Given the description of an element on the screen output the (x, y) to click on. 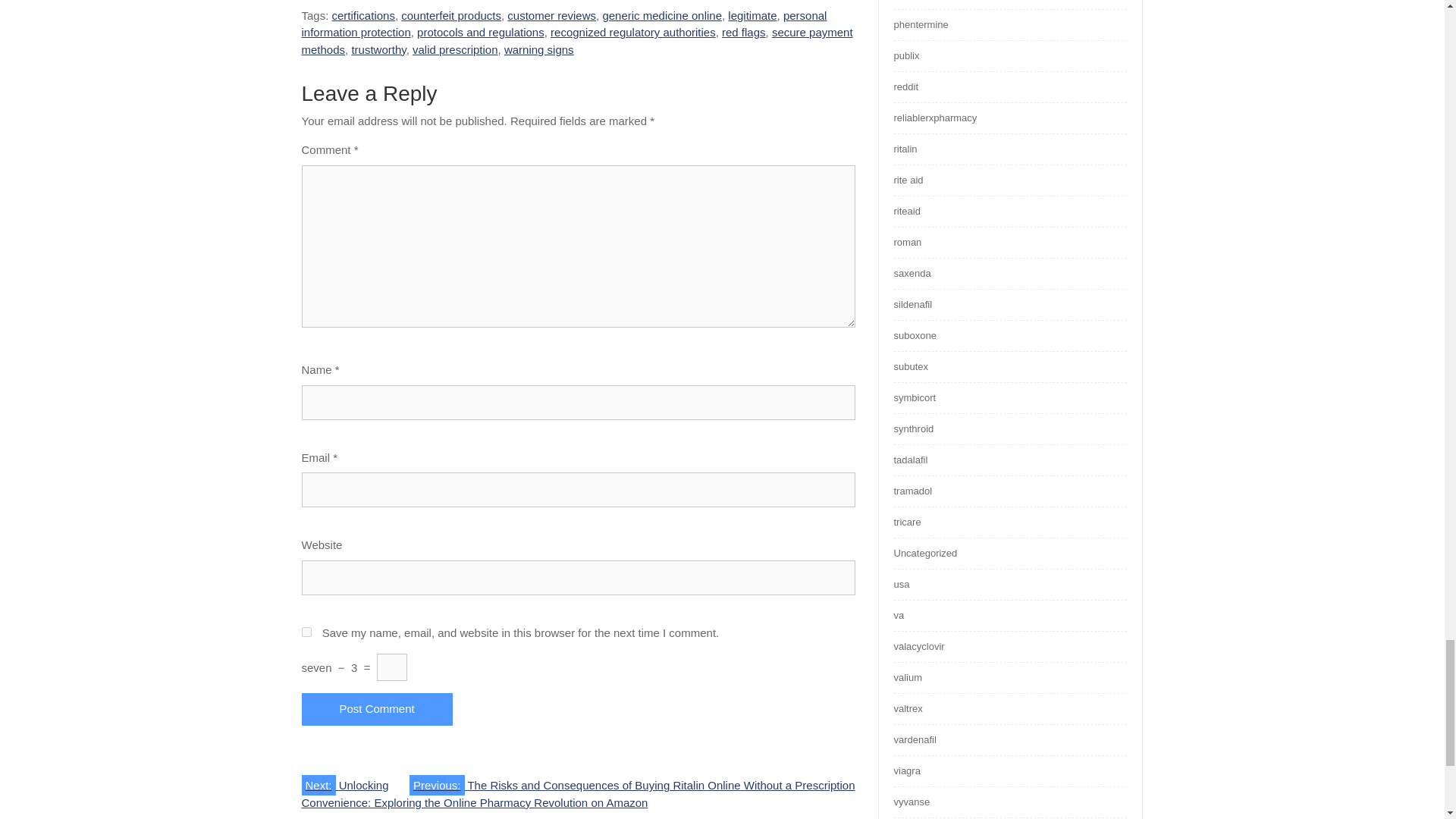
red flags (743, 31)
generic medicine online (662, 15)
secure payment methods (577, 40)
trustworthy (378, 49)
recognized regulatory authorities (633, 31)
personal information protection (564, 24)
protocols and regulations (480, 31)
warning signs (538, 49)
valid prescription (454, 49)
